Given the description of an element on the screen output the (x, y) to click on. 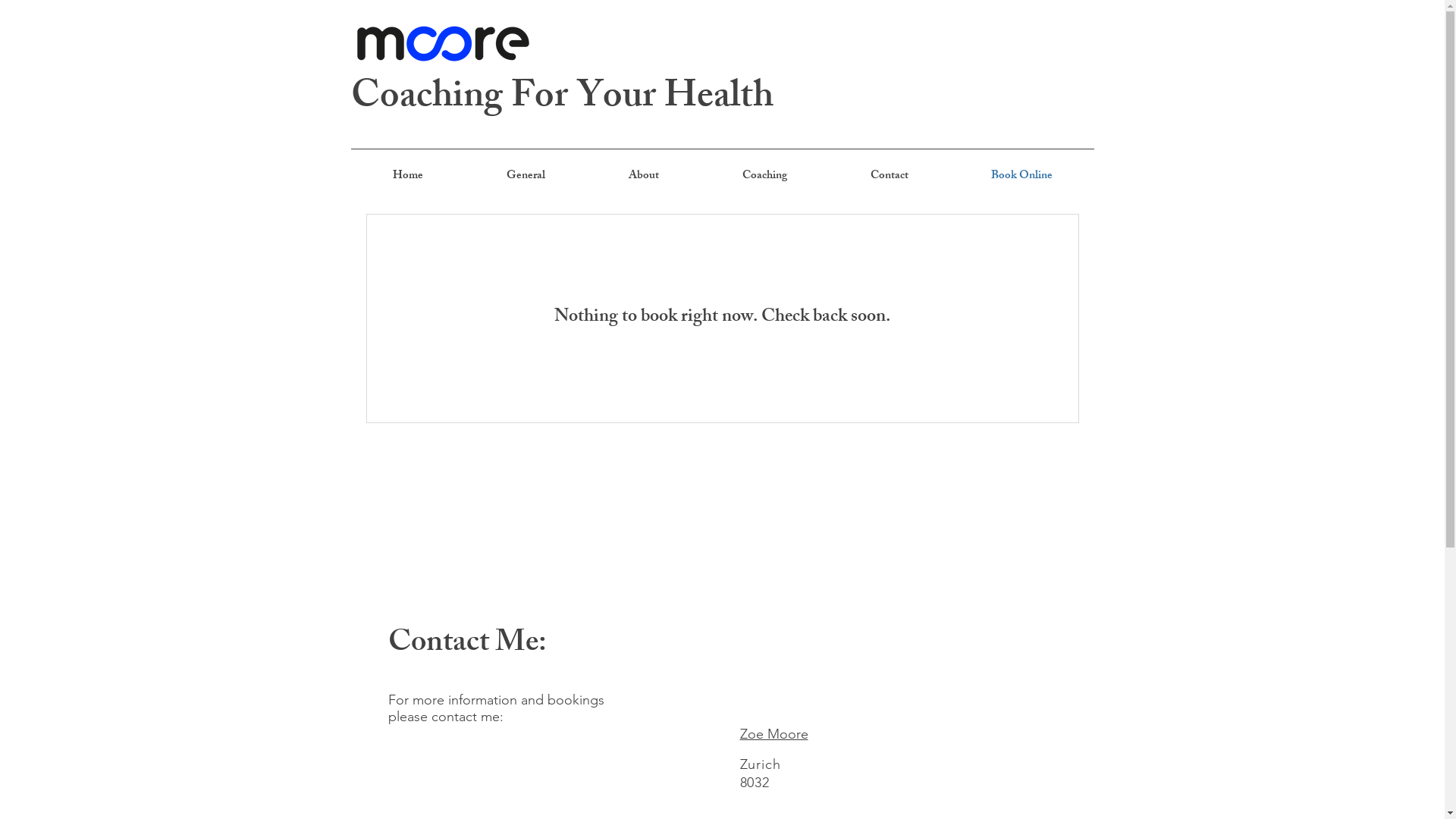
About Element type: text (643, 176)
Book Online Element type: text (1021, 176)
Contact Element type: text (888, 176)
General Element type: text (525, 176)
Coaching Element type: text (764, 176)
Zoe Moore Element type: text (774, 733)
Home Element type: text (407, 176)
Coaching For Your Health Element type: text (561, 98)
